Given the description of an element on the screen output the (x, y) to click on. 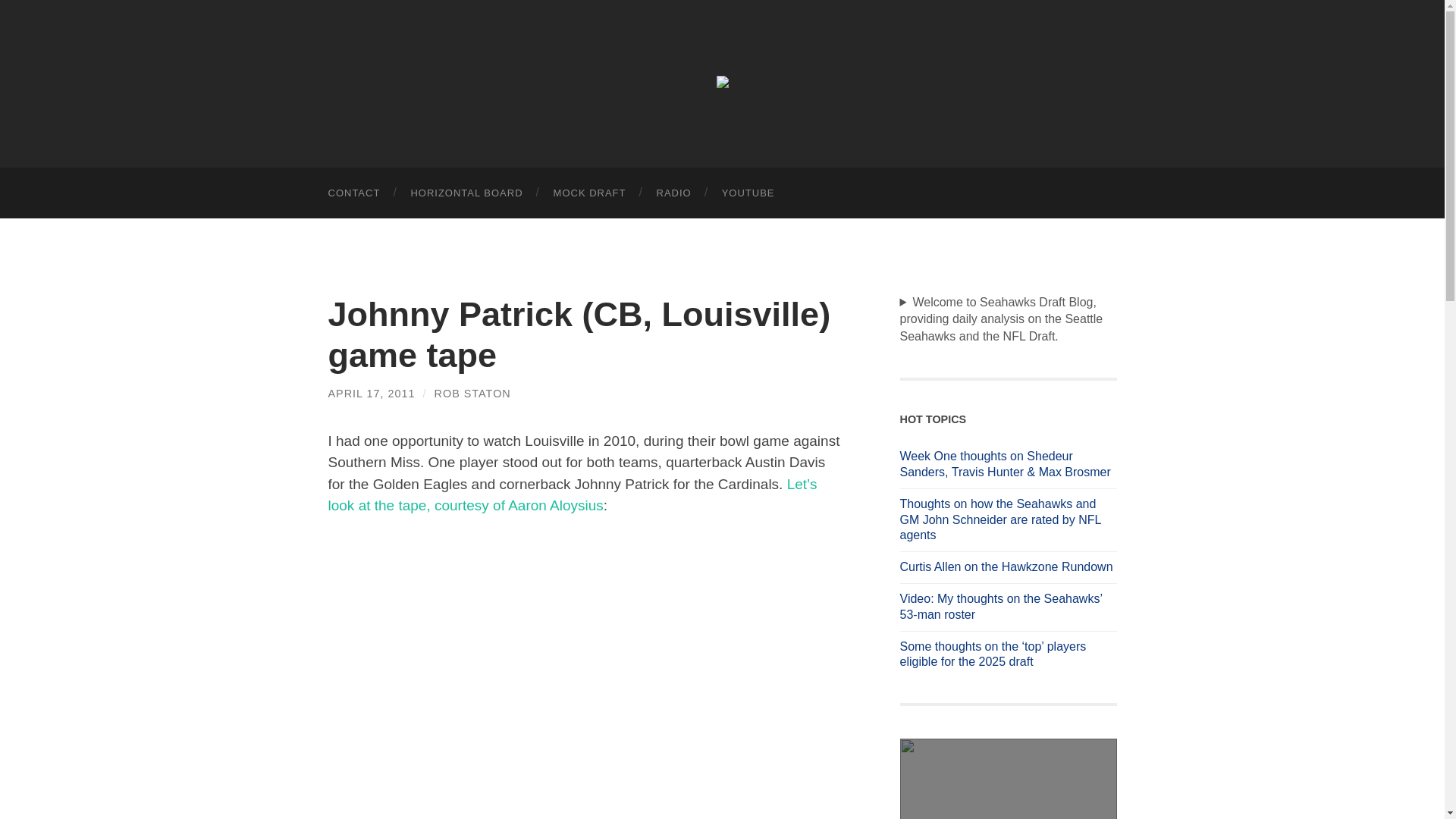
HORIZONTAL BOARD (465, 192)
ROB STATON (472, 393)
YOUTUBE (748, 192)
Curtis Allen on the Hawkzone Rundown (1007, 567)
Seahawks Draft Blog (722, 81)
CONTACT (353, 192)
RADIO (674, 192)
APRIL 17, 2011 (370, 393)
MOCK DRAFT (590, 192)
Posts by Rob Staton (472, 393)
